Given the description of an element on the screen output the (x, y) to click on. 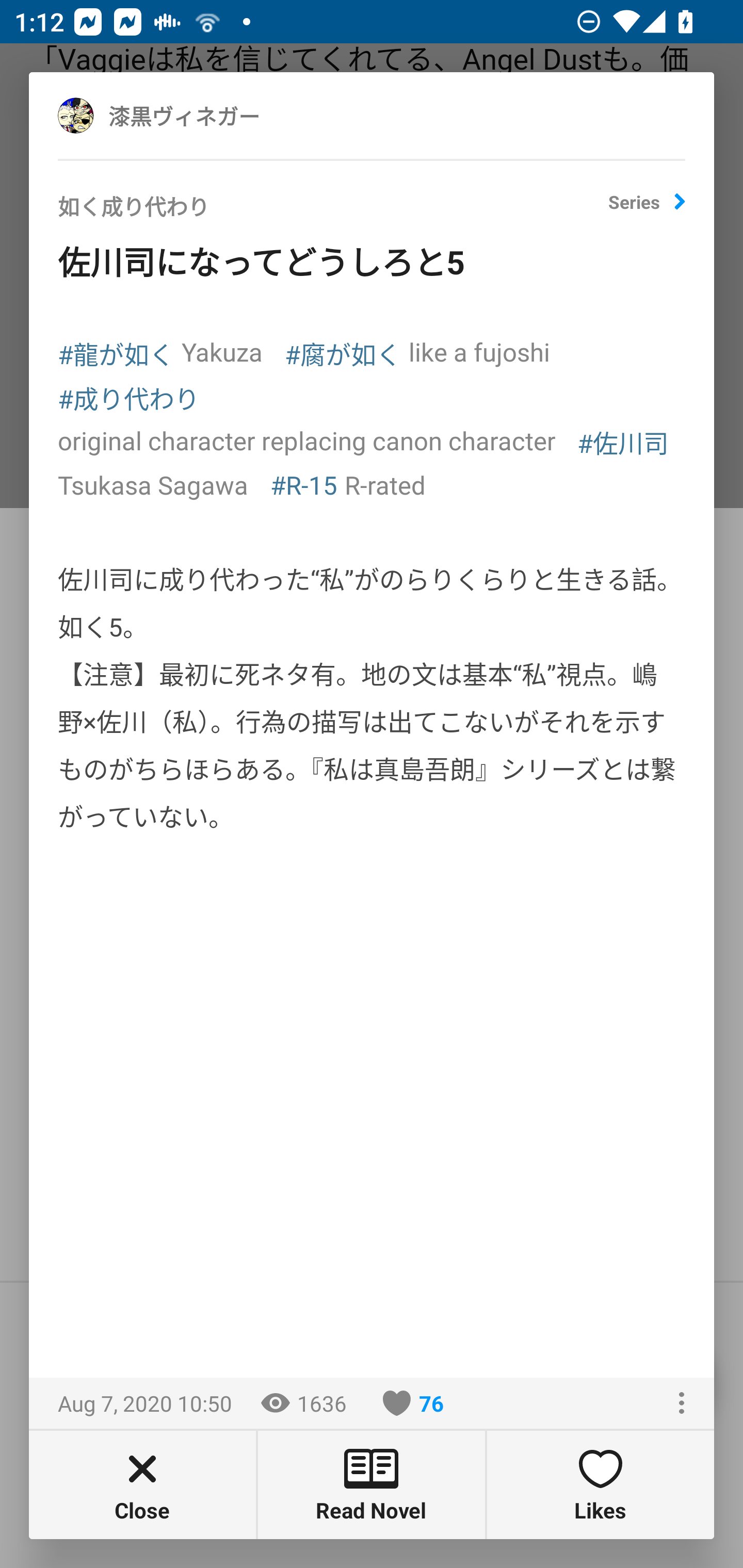
漆黒ヴィネガー (205, 115)
如く成り代わり (332, 212)
Series (646, 208)
#龍が如く (115, 352)
Yakuza (222, 350)
#腐が如く (342, 352)
like a fujoshi (478, 350)
#成り代わり (128, 397)
original character replacing canon character (306, 440)
#佐川司 (622, 441)
Tsukasa Sagawa (152, 484)
#R-15 (303, 484)
R-rated (385, 484)
76 (412, 1403)
Close (141, 1484)
Read Novel (371, 1484)
